Given the description of an element on the screen output the (x, y) to click on. 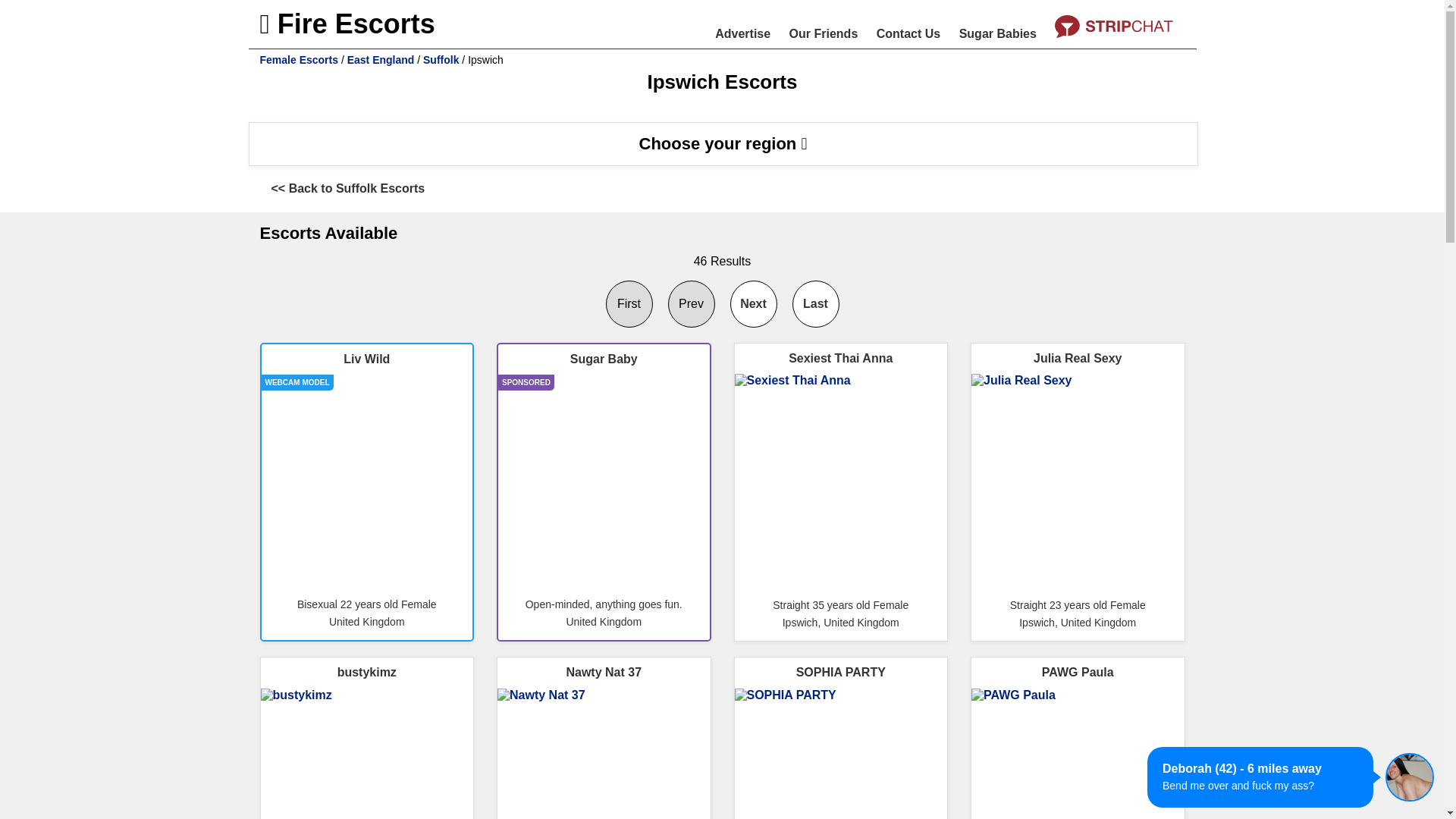
WEBCAM MODEL (365, 480)
Suffolk (440, 60)
Our Friends (823, 33)
Advertise (742, 33)
Female Escorts (298, 60)
Next (753, 304)
East England (380, 60)
